Given the description of an element on the screen output the (x, y) to click on. 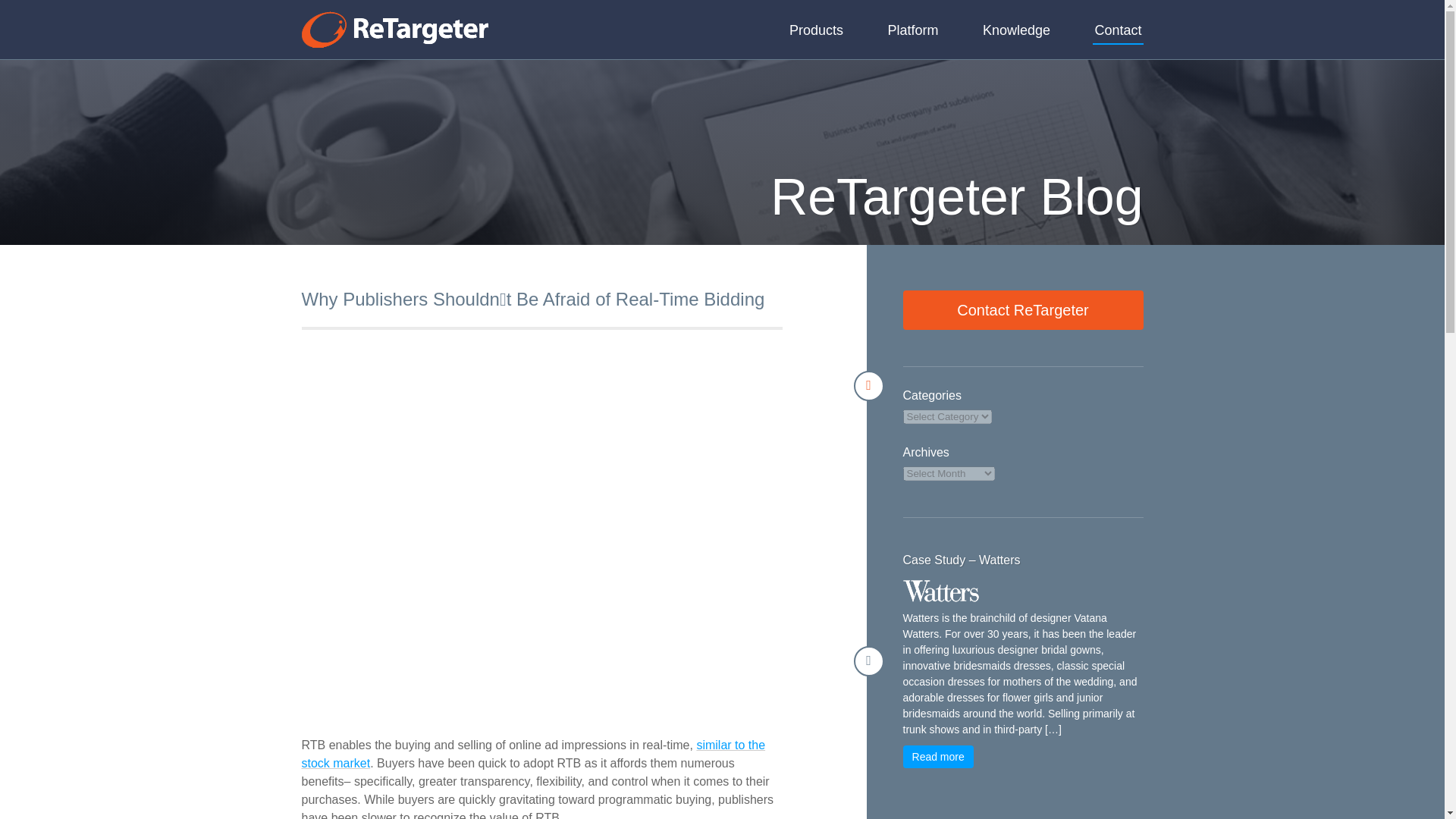
Knowledge (1016, 30)
Products (815, 30)
Platform (912, 30)
Contact ReTargeter (1022, 310)
similar to the stock market (533, 753)
Read more (938, 756)
Retargeter (394, 29)
Contact (1117, 31)
